Given the description of an element on the screen output the (x, y) to click on. 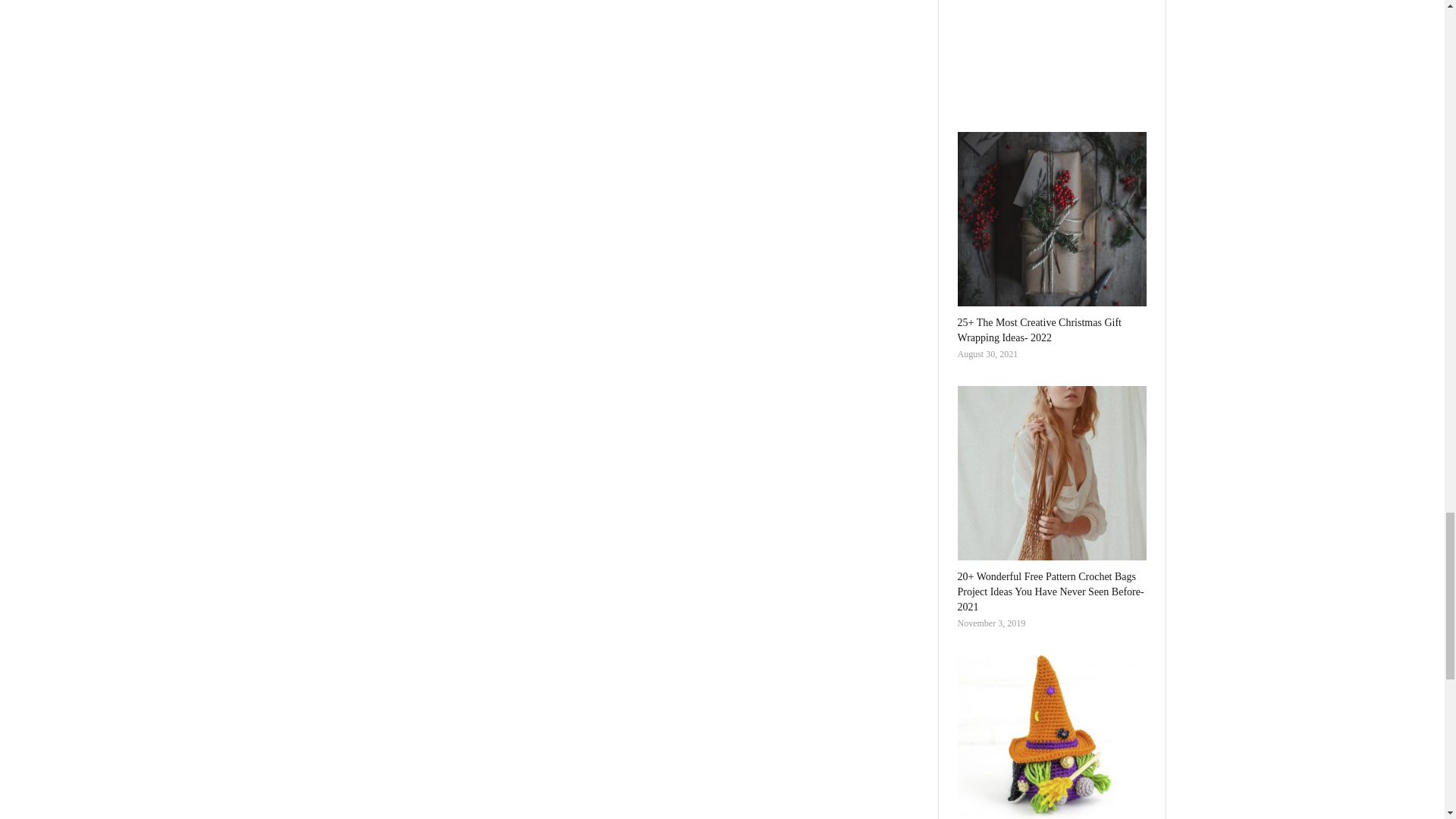
Easy Christmas Gnome Free Crochet Pattern- 2021 (1050, 737)
Advertisement (1050, 47)
